Given the description of an element on the screen output the (x, y) to click on. 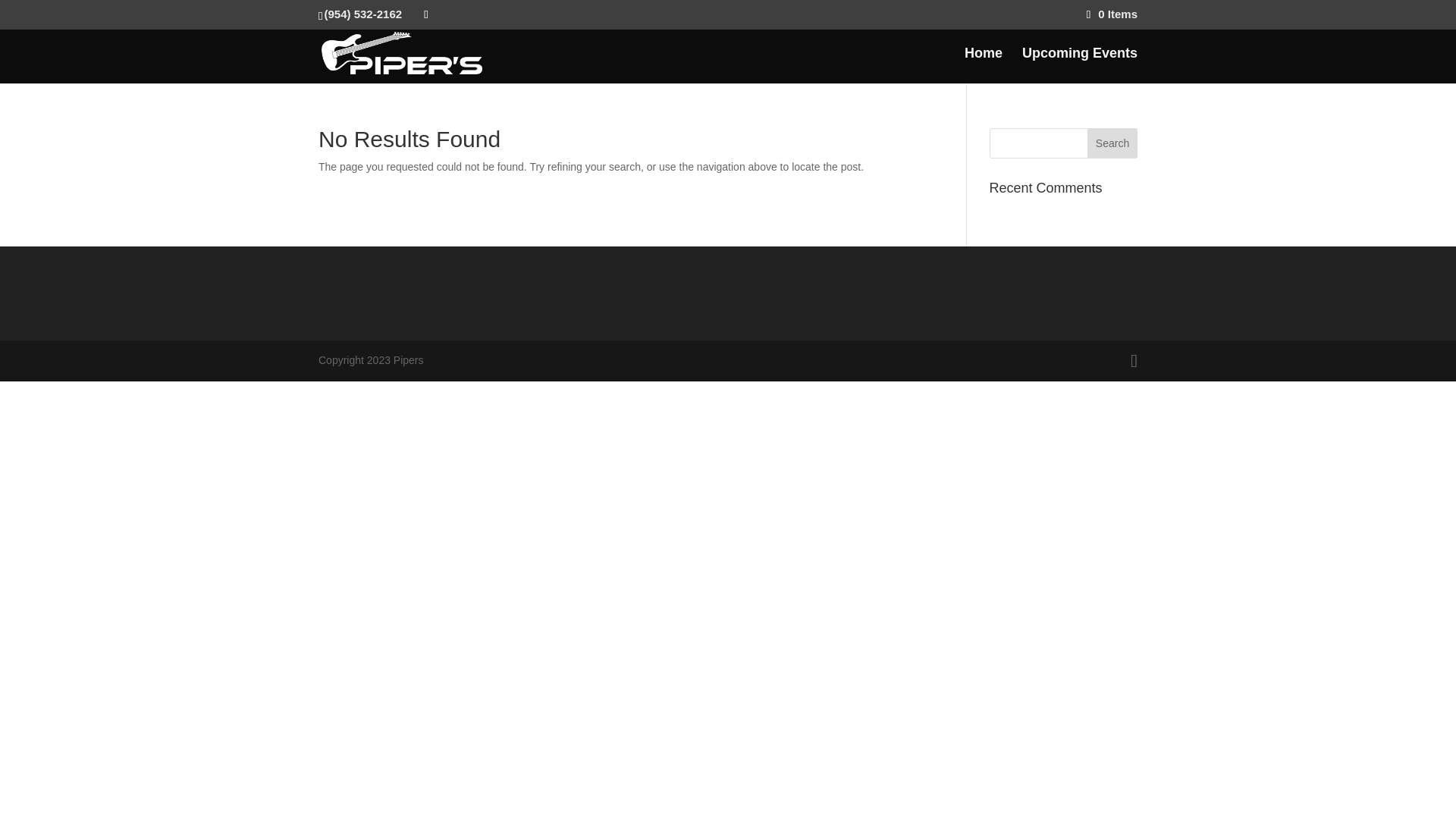
Search (1112, 142)
Home (983, 65)
Search (1112, 142)
Upcoming Events (1079, 65)
0 Items (1111, 13)
